Given the description of an element on the screen output the (x, y) to click on. 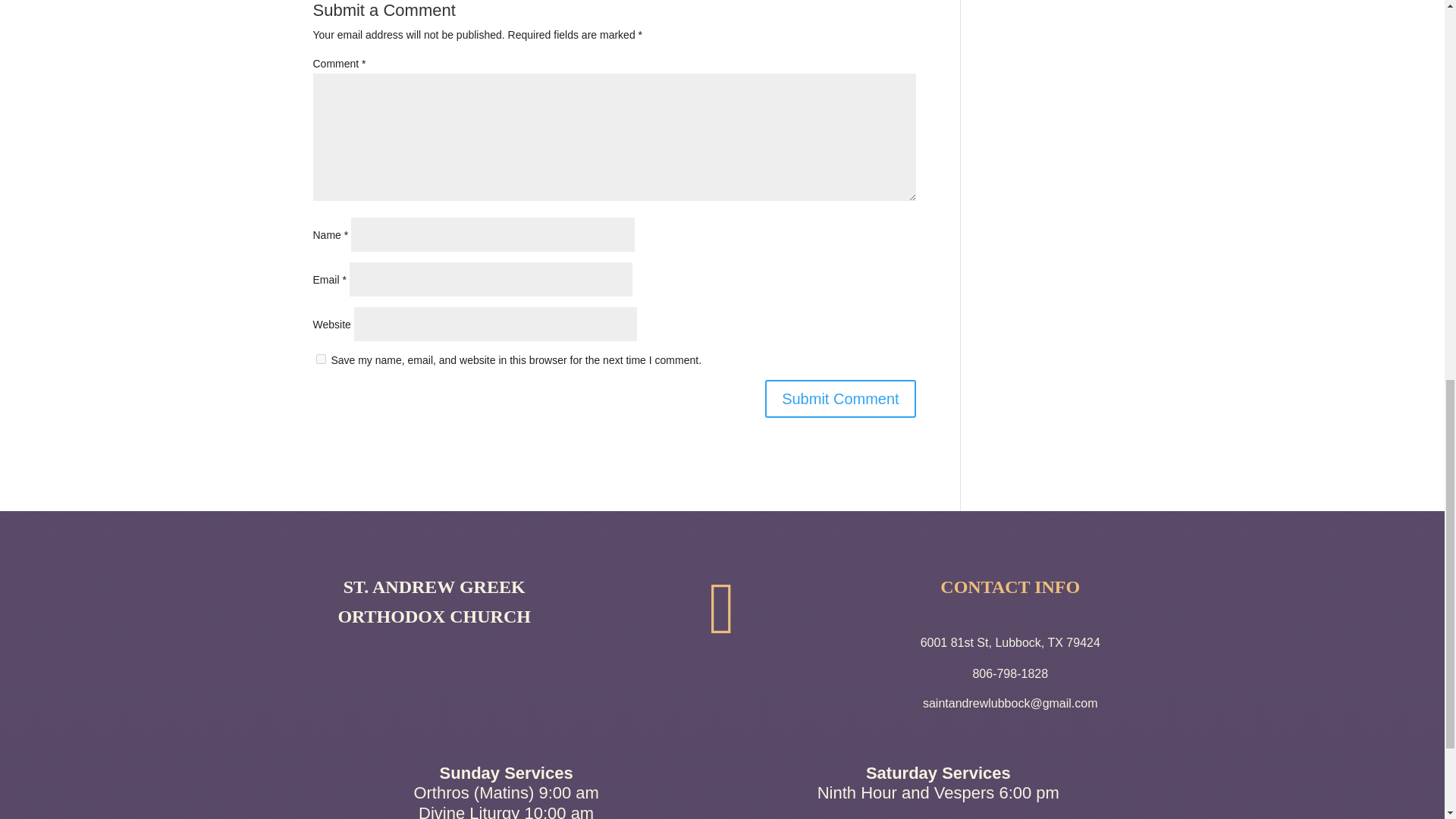
Submit Comment (840, 398)
Submit Comment (840, 398)
yes (319, 358)
806-798-1828 (1010, 673)
